Given the description of an element on the screen output the (x, y) to click on. 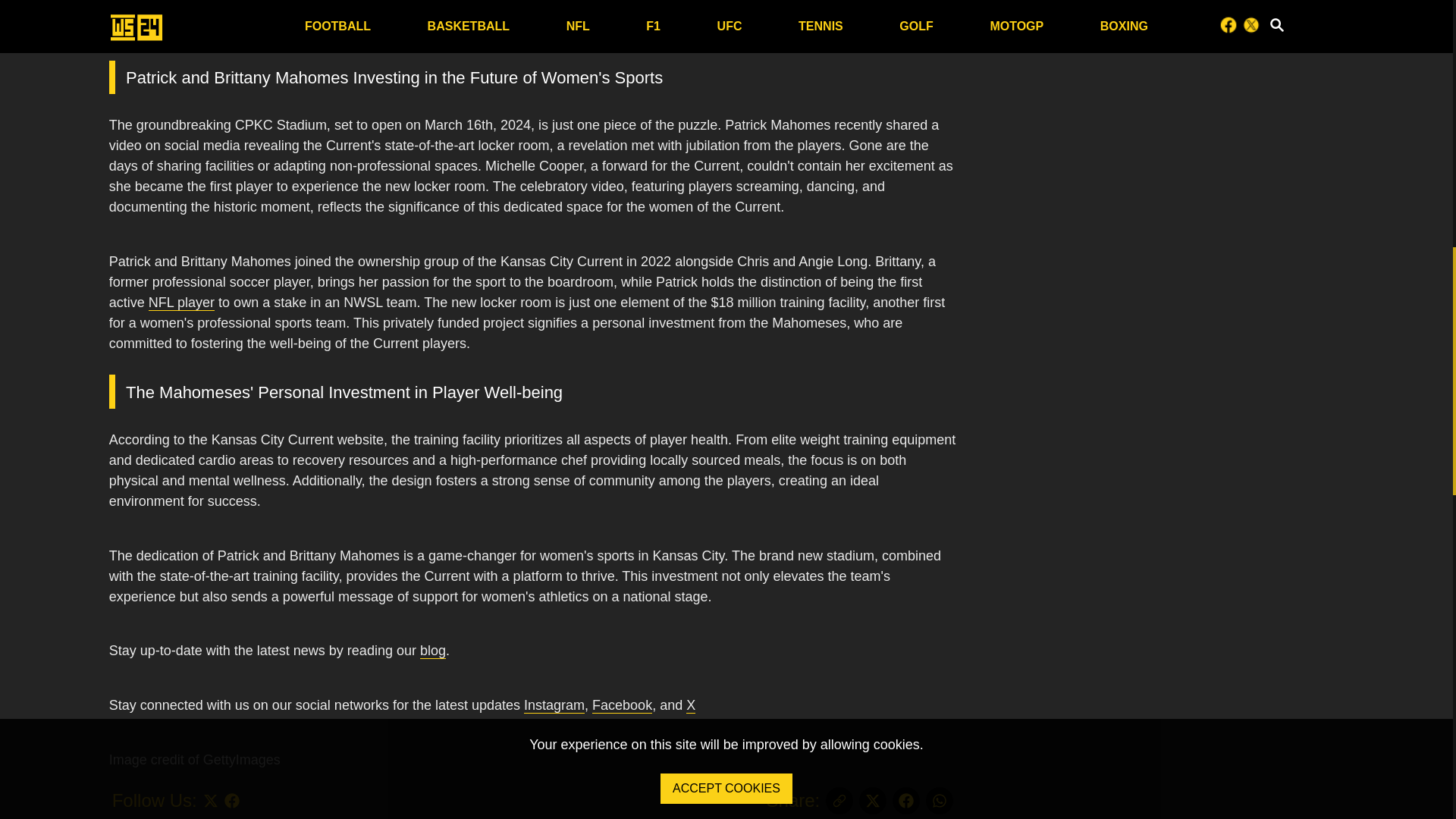
blog (432, 650)
NFL player (181, 302)
Facebook (622, 705)
Instagram (554, 705)
